Given the description of an element on the screen output the (x, y) to click on. 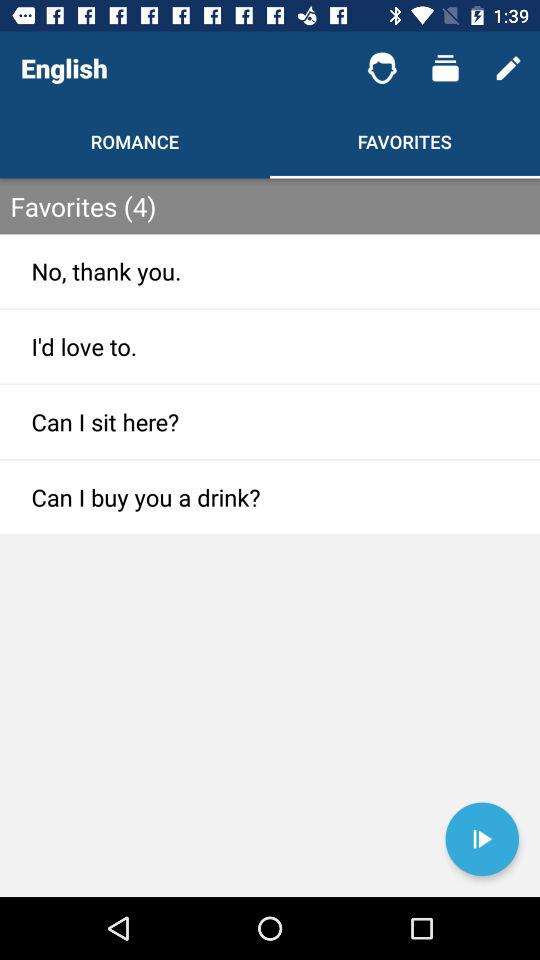
because back devicer (482, 839)
